Given the description of an element on the screen output the (x, y) to click on. 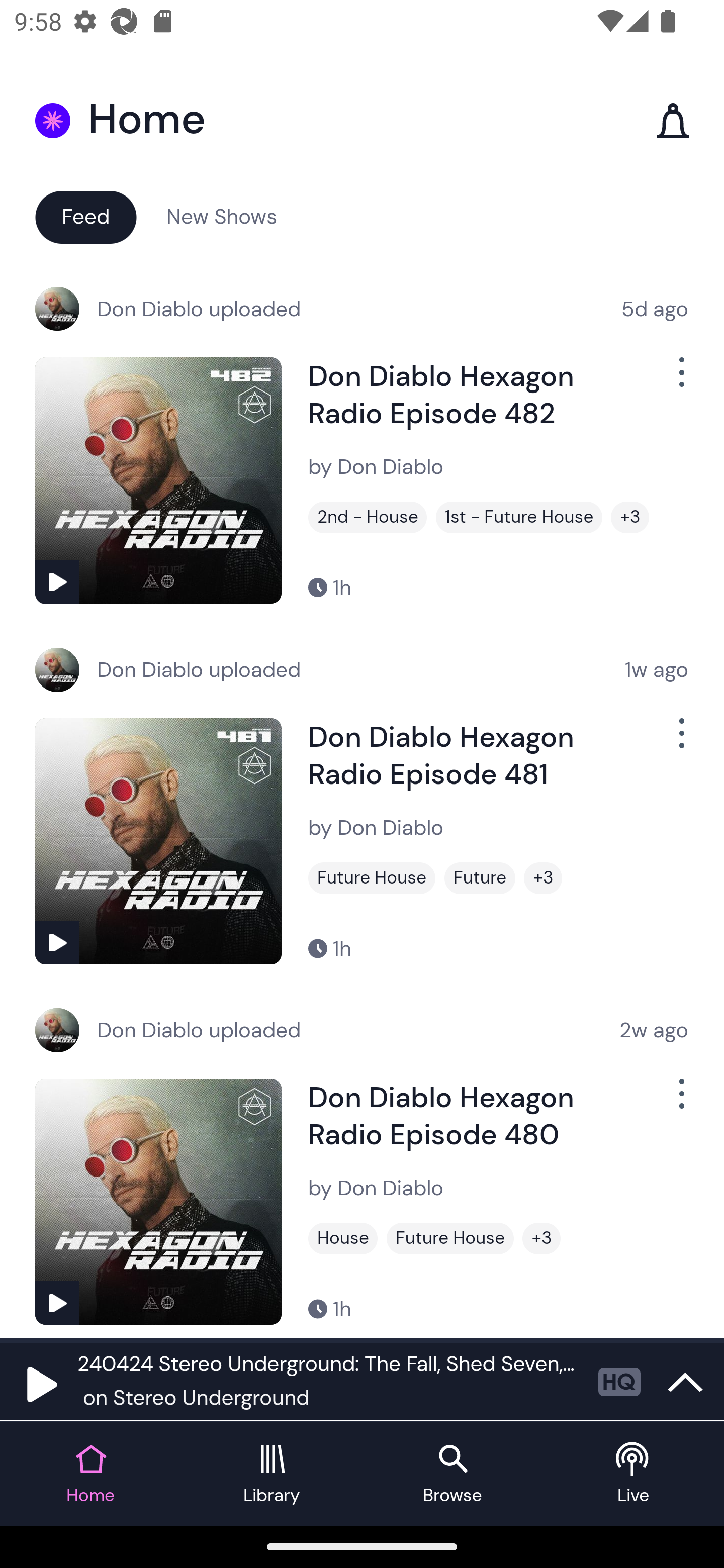
Feed (85, 216)
New Shows (221, 216)
Show Options Menu Button (679, 379)
2nd - House (367, 517)
1st - Future House (518, 517)
Show Options Menu Button (679, 740)
Future House (371, 877)
Future (479, 877)
Show Options Menu Button (679, 1101)
House (342, 1238)
Future House (450, 1238)
Home tab Home (90, 1473)
Library tab Library (271, 1473)
Browse tab Browse (452, 1473)
Live tab Live (633, 1473)
